Given the description of an element on the screen output the (x, y) to click on. 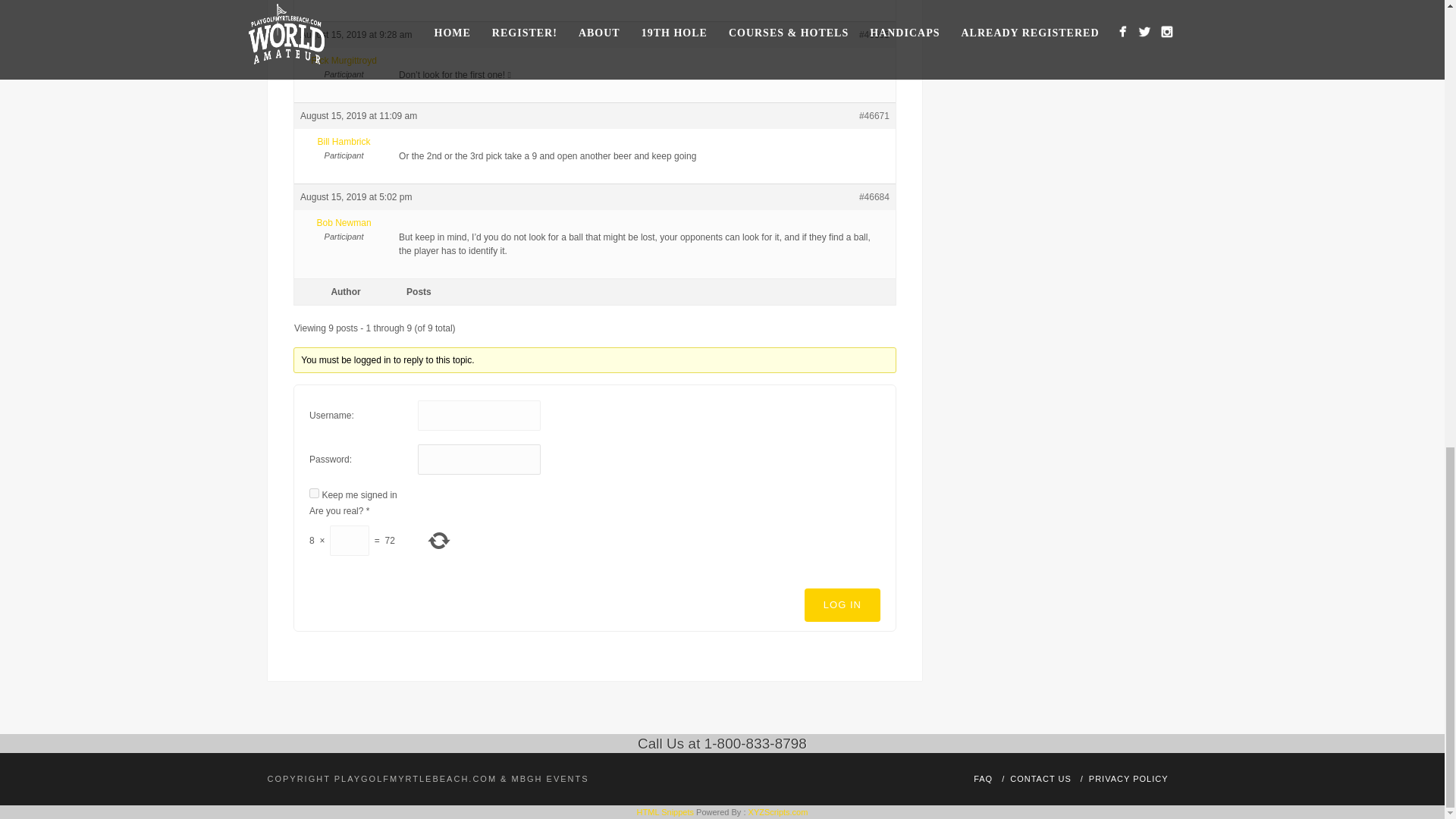
View Bill Hambrick's profile (343, 141)
LOG IN (842, 604)
forever (313, 492)
Bob Newman (343, 223)
Bill Hambrick (343, 141)
View Bob Newman's profile (343, 223)
Rick Murgittroyd (343, 60)
View Rick Murgittroyd's profile (343, 60)
